Given the description of an element on the screen output the (x, y) to click on. 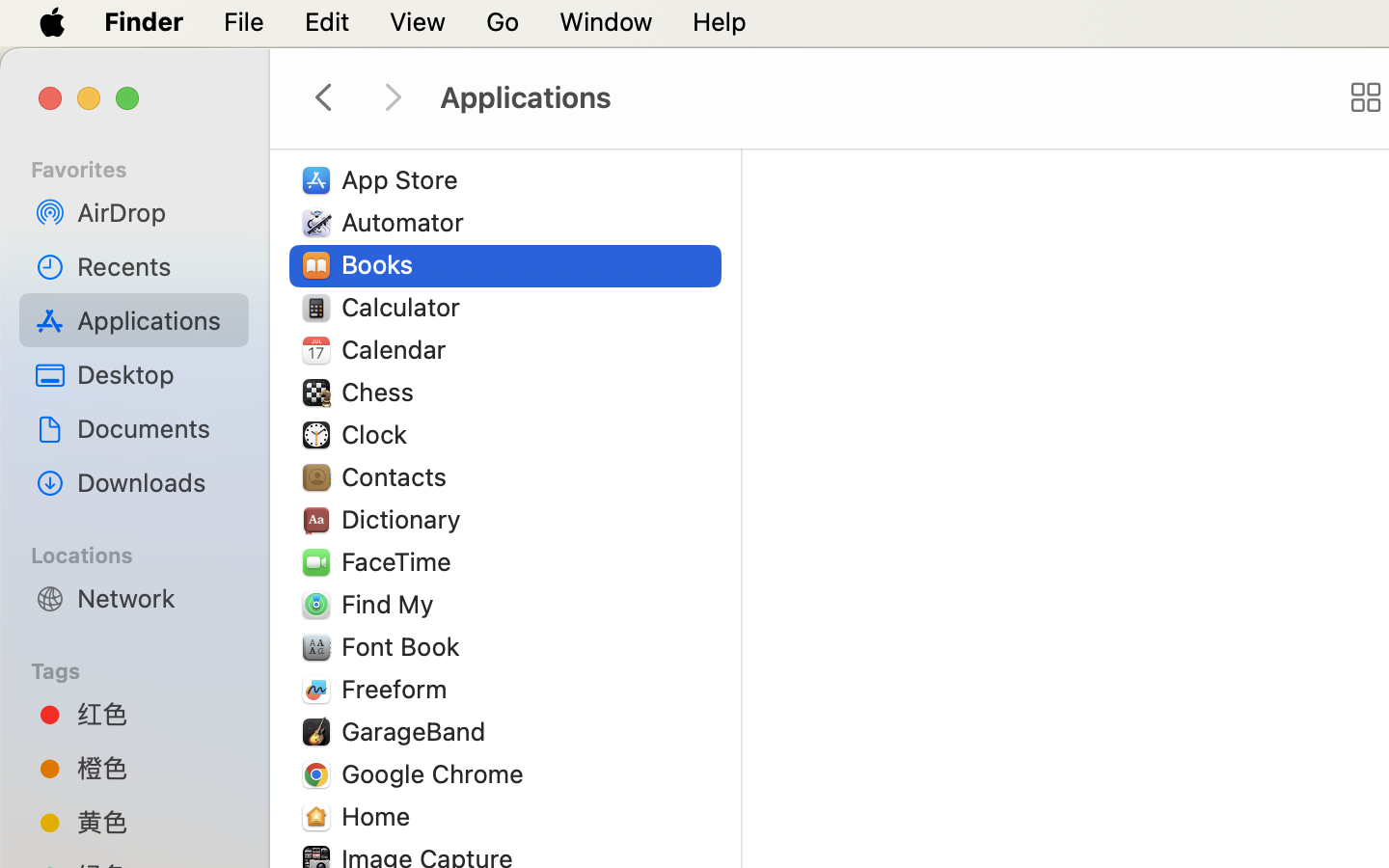
Dictionary Element type: AXTextField (404, 518)
Applications Element type: AXStaticText (875, 98)
Books Element type: AXTextField (381, 263)
Automator Element type: AXTextField (406, 221)
Find My Element type: AXTextField (391, 603)
